Given the description of an element on the screen output the (x, y) to click on. 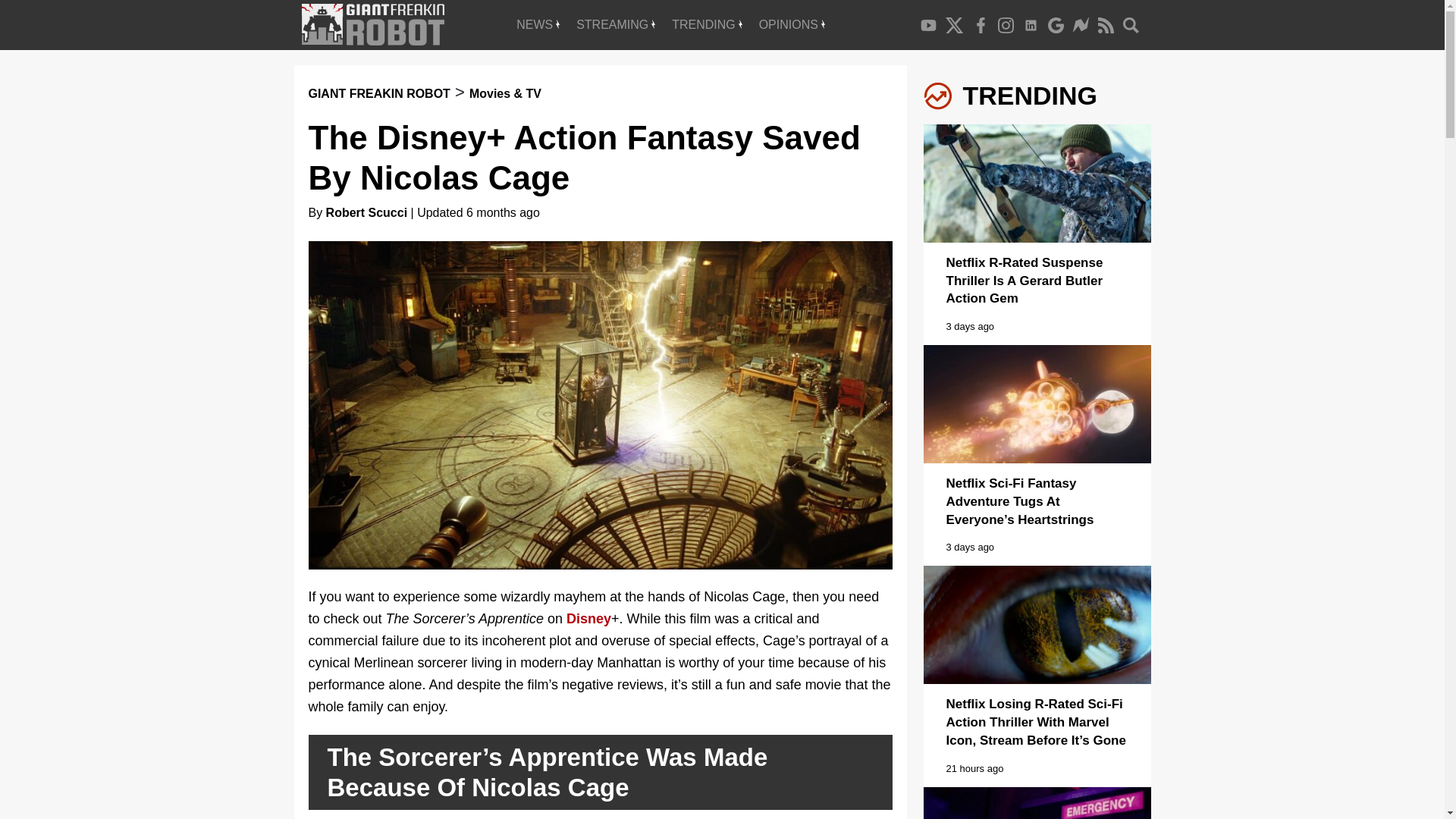
Entertainment News (537, 24)
OPINIONS (791, 24)
GIANT FREAKIN ROBOT (378, 92)
Trending (706, 24)
NEWS (537, 24)
STREAMING (615, 24)
TRENDING (706, 24)
Disney (588, 618)
Robert Scucci (366, 212)
Streaming (615, 24)
